Given the description of an element on the screen output the (x, y) to click on. 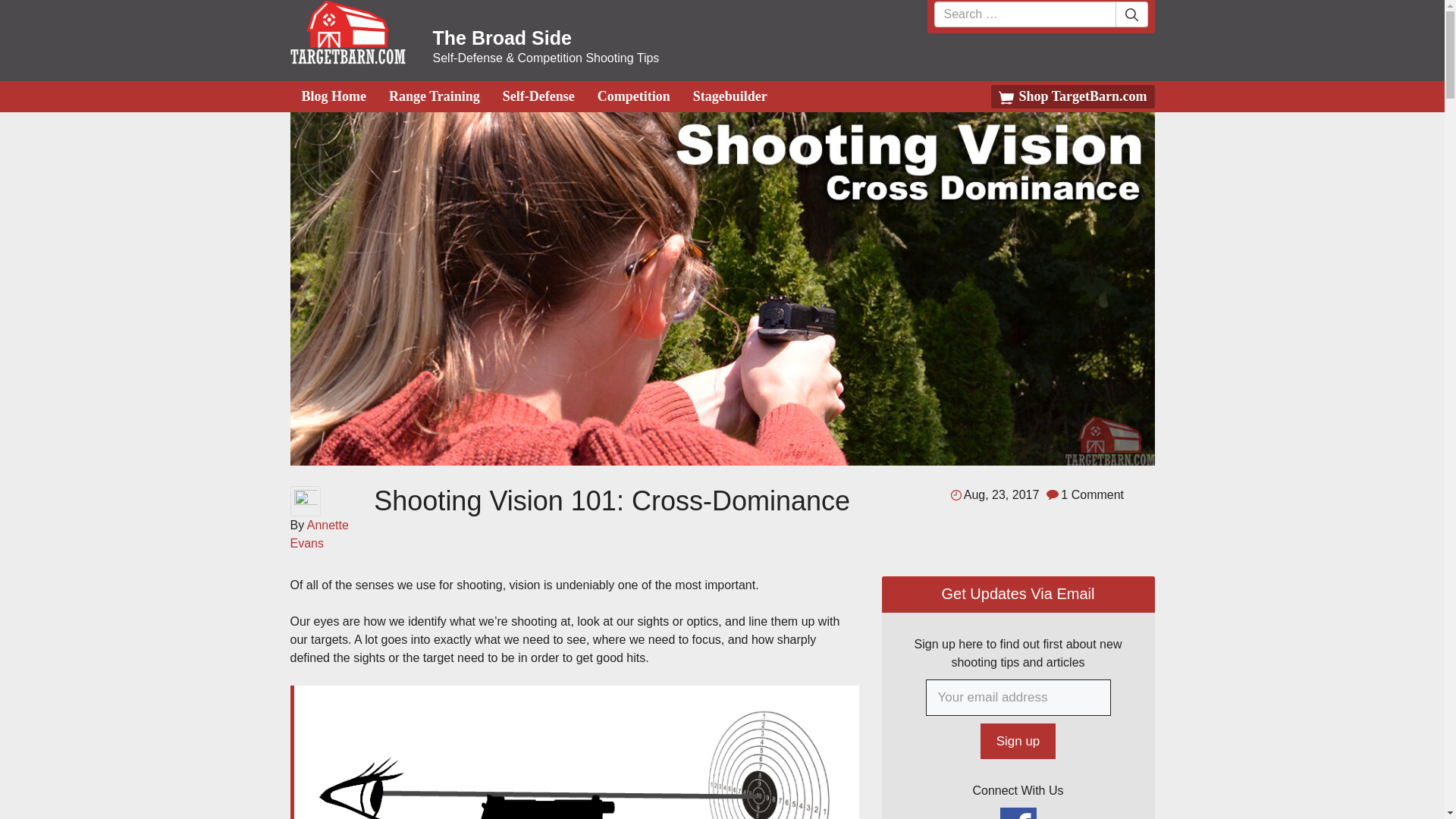
The Broad Side (346, 32)
Sign up (1018, 741)
Range Training (434, 96)
Search for: (1025, 14)
Sign up (1018, 741)
diagram showing eye, sights and target (574, 752)
Competition (634, 96)
Blog Home (333, 96)
Targets (346, 54)
Annette Evans (318, 533)
Shop TargetBarn.com (1072, 96)
Stagebuilder (729, 96)
Shop Targets (1072, 96)
Self-Defense (538, 96)
